Given the description of an element on the screen output the (x, y) to click on. 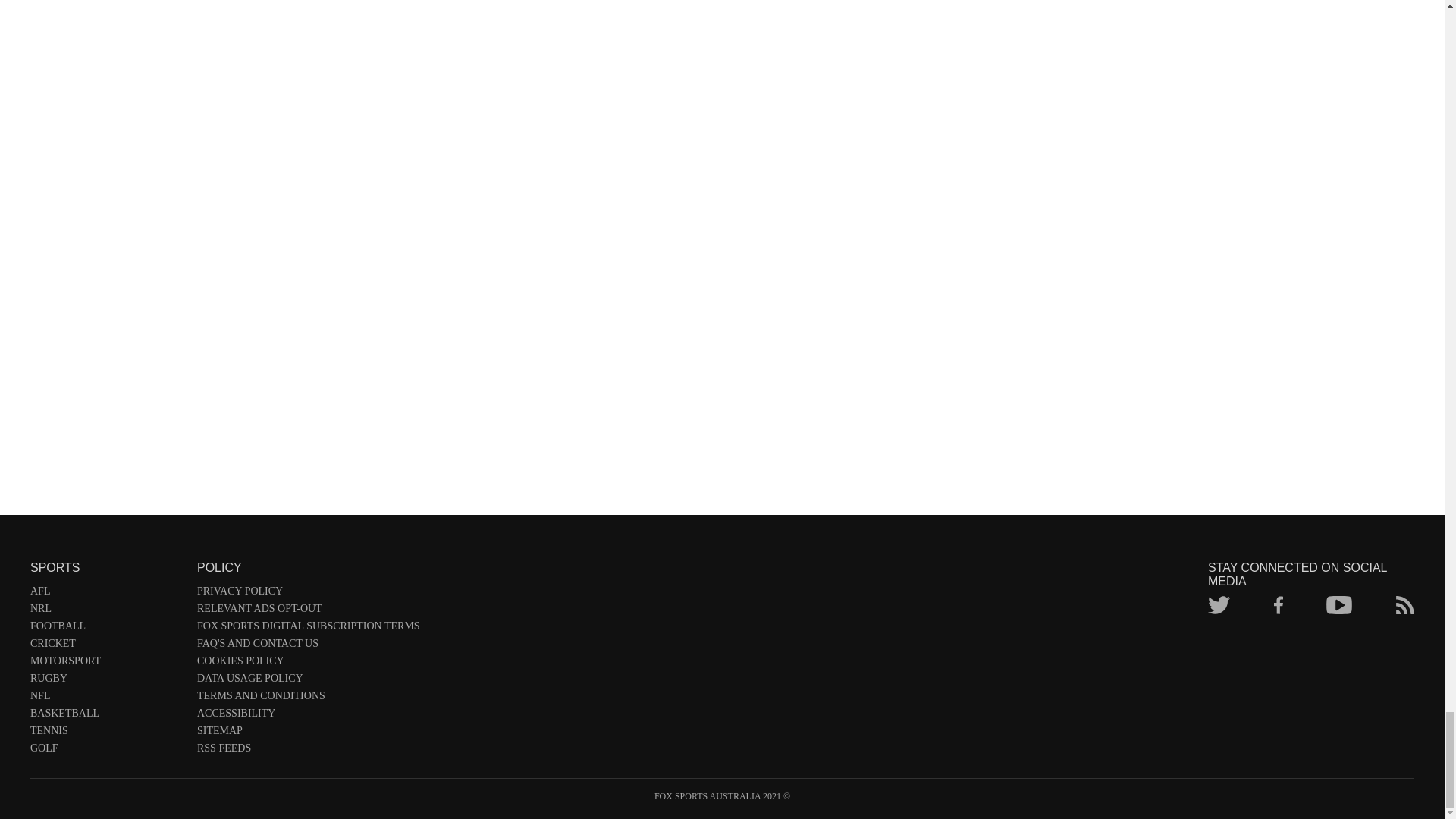
NRL (106, 610)
FOX SPORTS DIGITAL SUBSCRIPTION TERMS (308, 628)
ACCESSIBILITY (308, 715)
RSS FEEDS (308, 751)
RUGBY (106, 681)
COOKIES POLICY (308, 663)
DATA USAGE POLICY (308, 681)
FOOTBALL (106, 628)
AFL (106, 593)
BASKETBALL (106, 715)
